Given the description of an element on the screen output the (x, y) to click on. 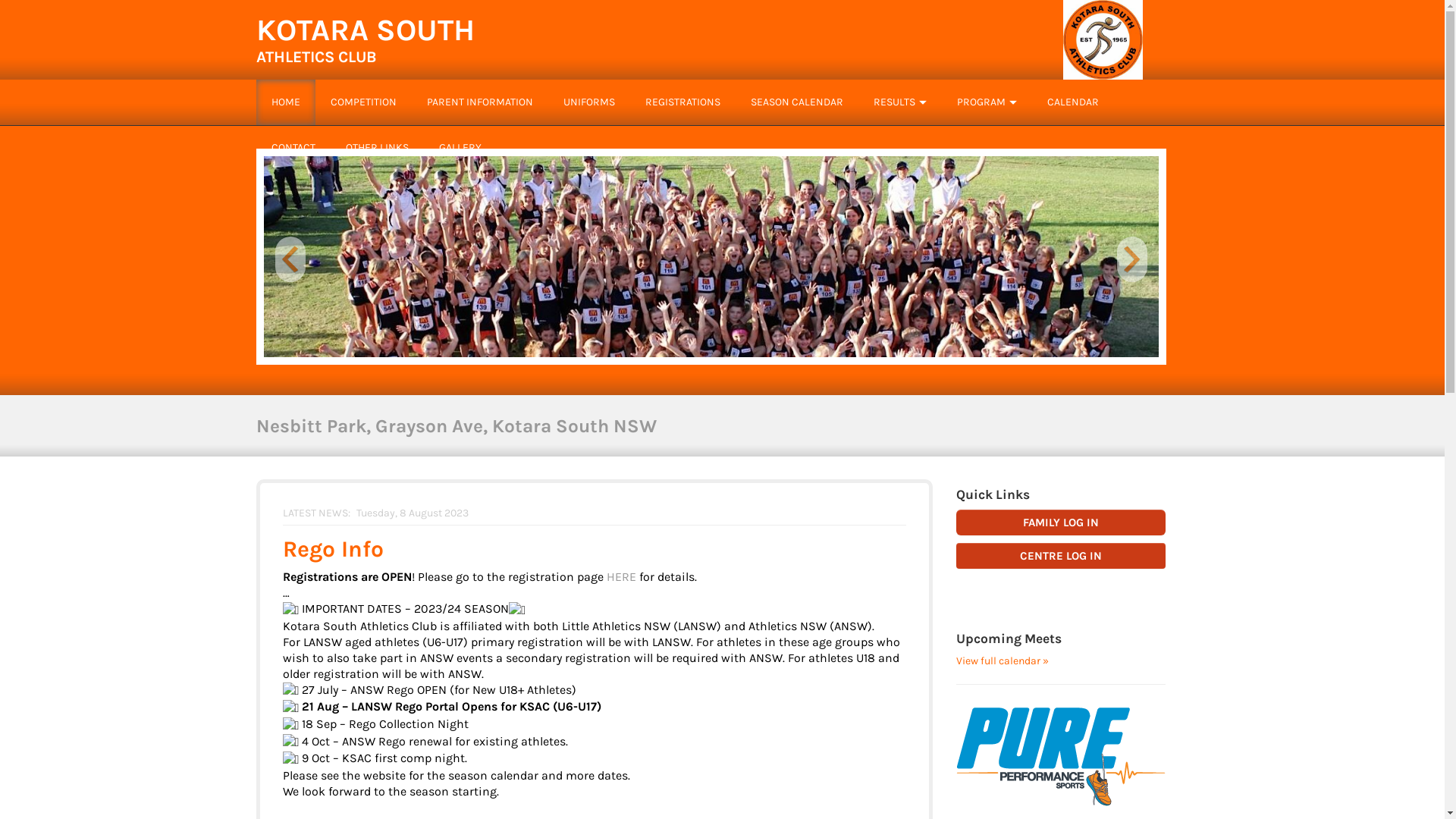
Kotara South Athletics Club Element type: hover (1102, 38)
PROGRAM Element type: text (981, 101)
PARENT INFORMATION Element type: text (479, 101)
SEASON CALENDAR Element type: text (796, 101)
RESULTS Element type: text (894, 101)
HOME Element type: text (285, 101)
FAMILY LOG IN Element type: text (1061, 522)
GALLERY Element type: text (459, 147)
KOTARA SOUTH Element type: text (365, 29)
CONTACT Element type: text (293, 147)
CENTRE LOG IN Element type: text (1061, 555)
OTHER LINKS Element type: text (376, 147)
ATHLETICS CLUB Element type: text (316, 56)
UNIFORMS Element type: text (588, 101)
CALENDAR Element type: text (1072, 101)
COMPETITION Element type: text (363, 101)
HERE Element type: text (621, 576)
REGISTRATIONS Element type: text (681, 101)
